Given the description of an element on the screen output the (x, y) to click on. 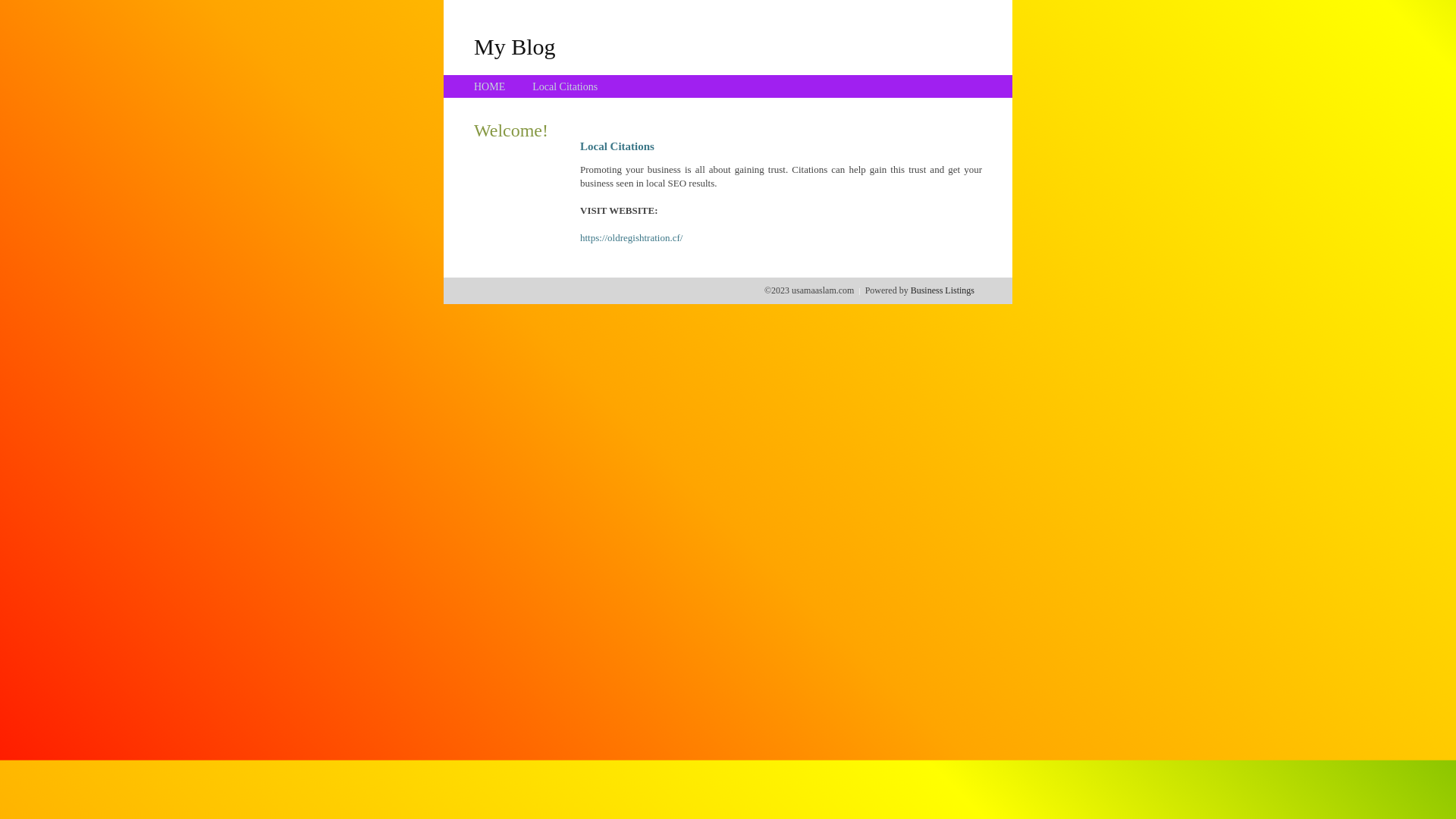
https://oldregishtration.cf/ Element type: text (631, 237)
My Blog Element type: text (514, 46)
HOME Element type: text (489, 86)
Business Listings Element type: text (942, 290)
Local Citations Element type: text (564, 86)
